Given the description of an element on the screen output the (x, y) to click on. 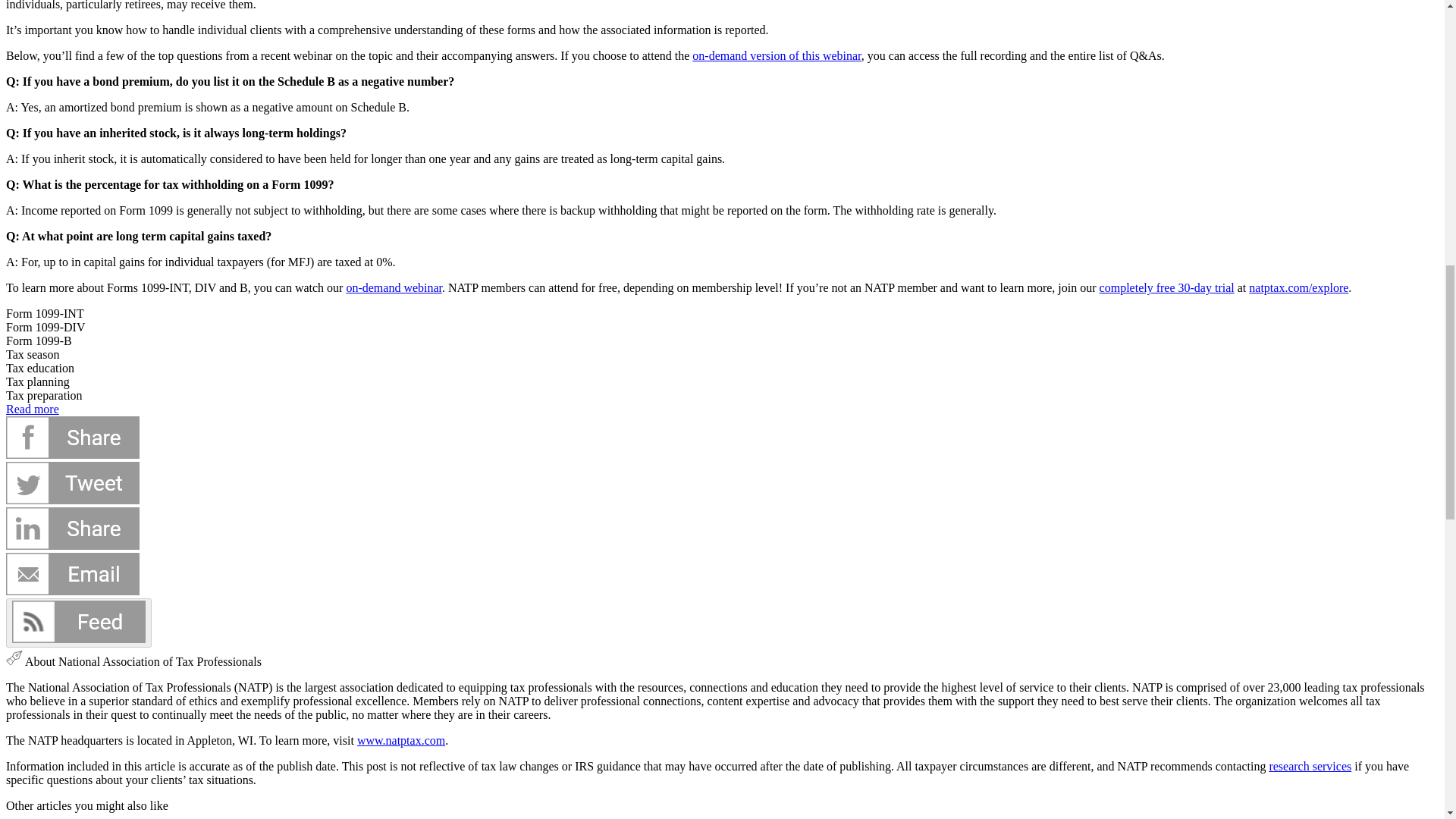
on-demand webinar (394, 287)
research services (1309, 766)
www.natptax.com (400, 739)
on-demand version of this webinar (776, 55)
completely free 30-day trial (1166, 287)
Read more (32, 408)
